Given the description of an element on the screen output the (x, y) to click on. 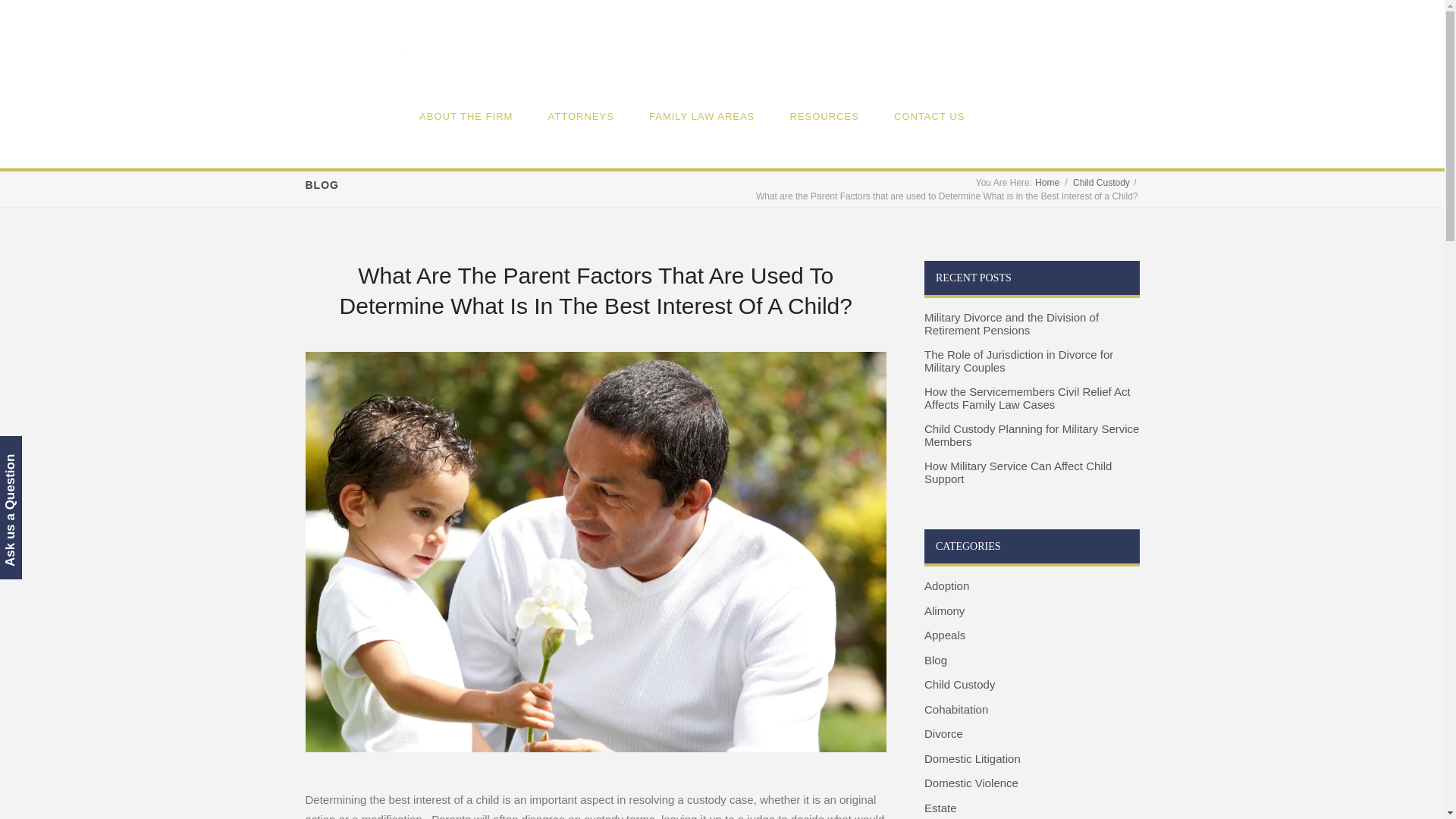
ABOUT THE FIRM (466, 116)
FAMILY LAW AREAS (701, 116)
ATTORNEYS (580, 116)
